Given the description of an element on the screen output the (x, y) to click on. 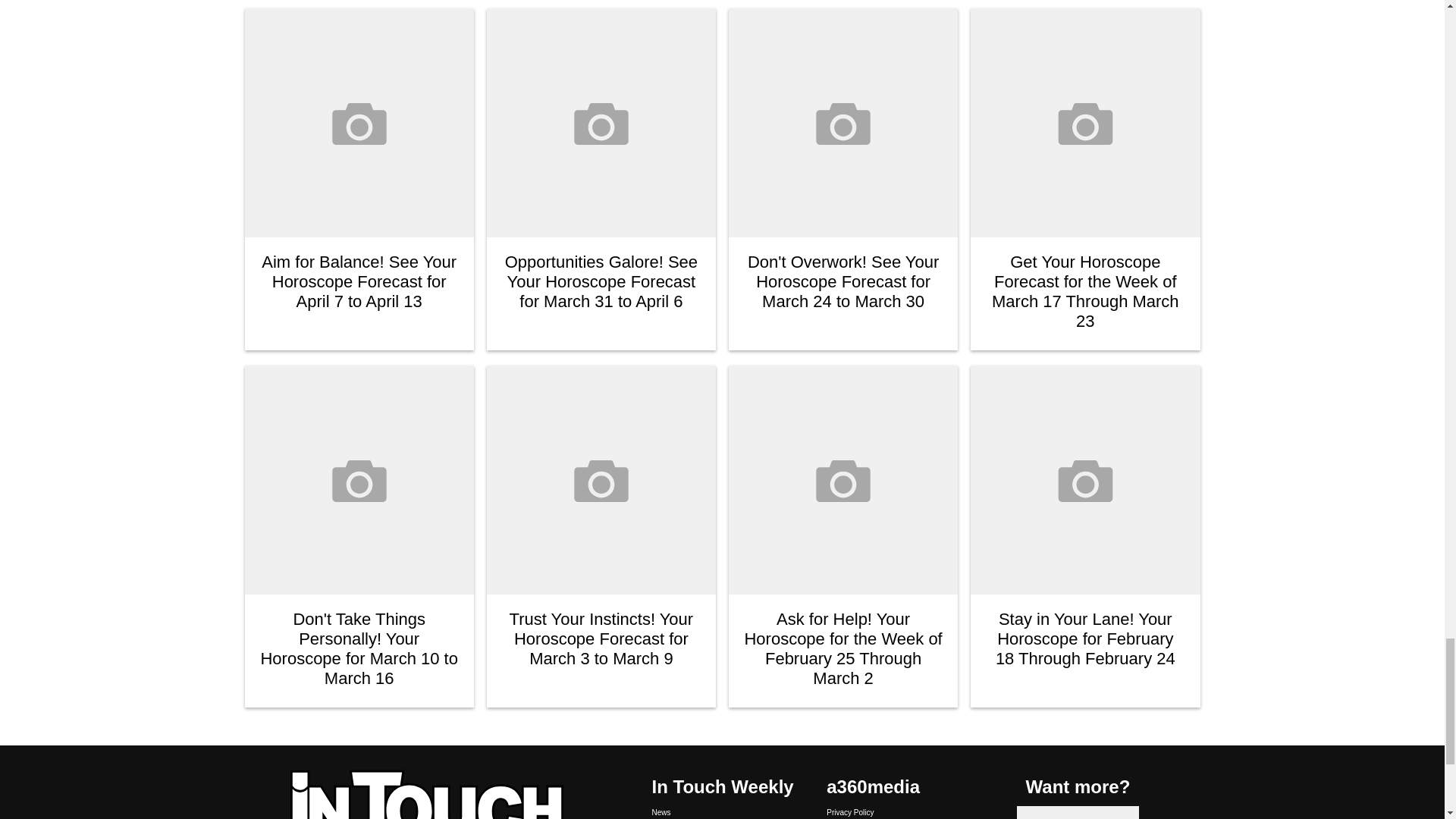
Home (434, 793)
